Given the description of an element on the screen output the (x, y) to click on. 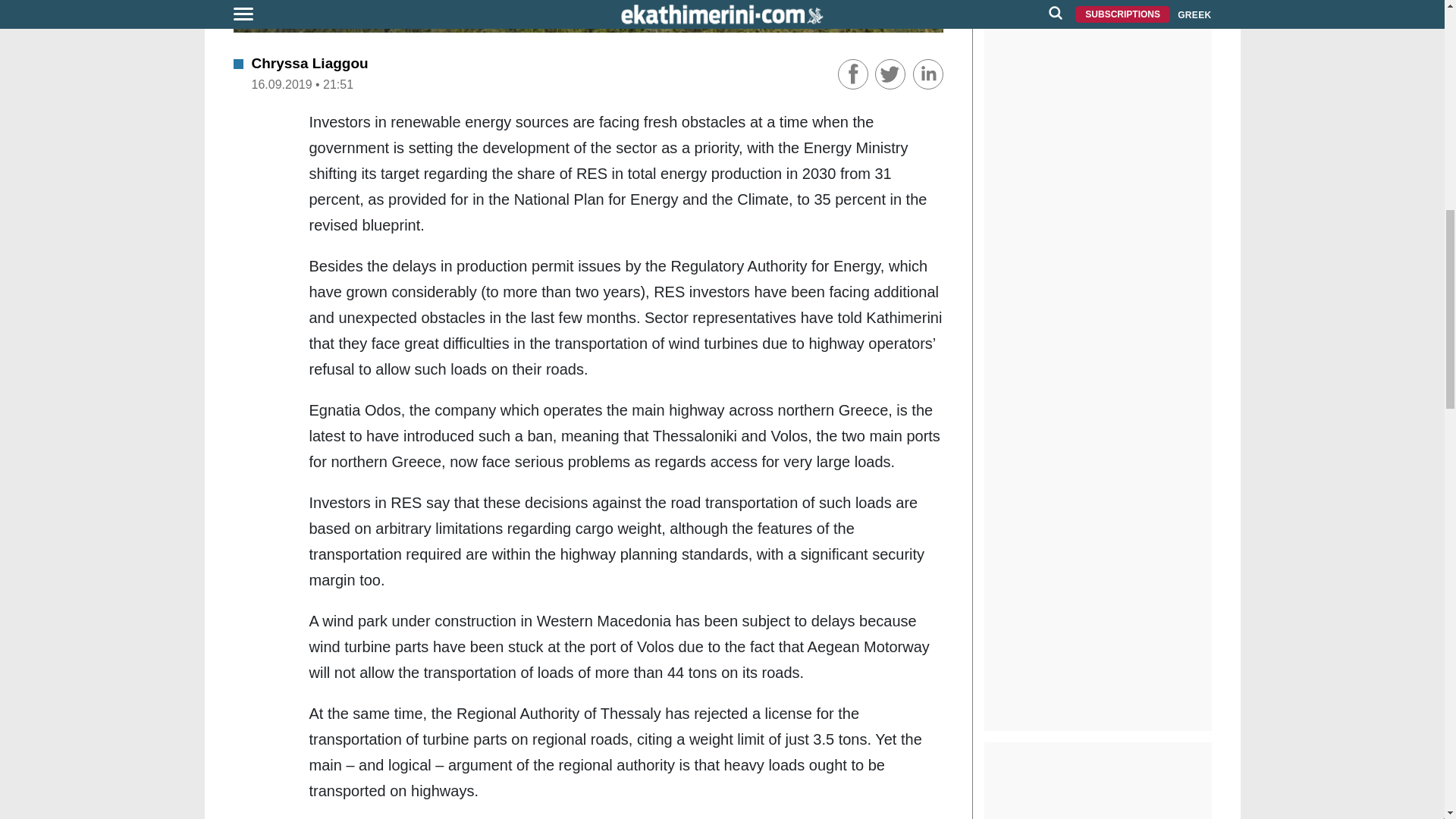
View all posts by Chryssa Liaggou (309, 63)
